Given the description of an element on the screen output the (x, y) to click on. 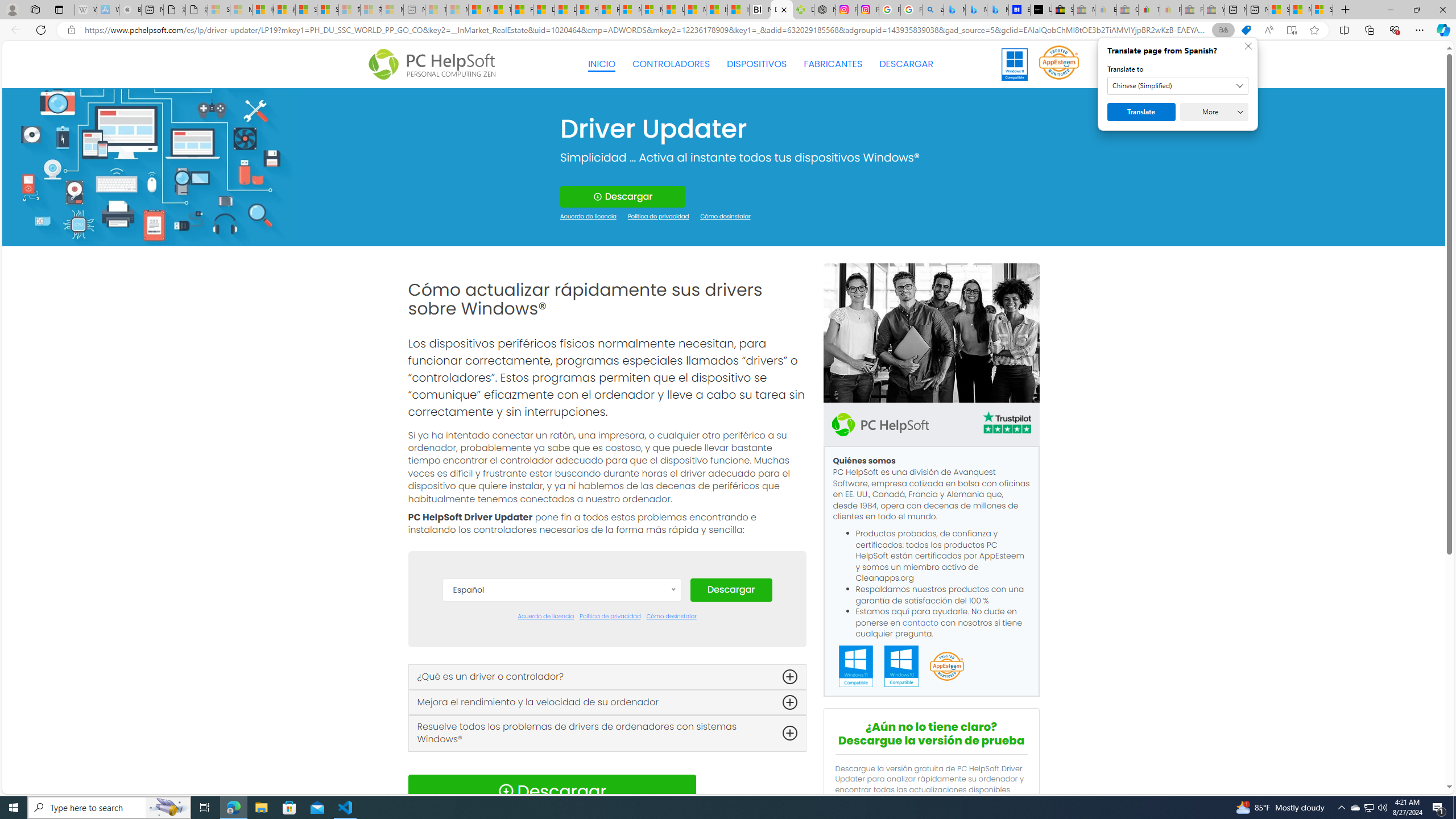
Microsoft account | Account Checkup - Sleeping (392, 9)
Sign in to your Microsoft account (1322, 9)
Windows 10 Compatible (900, 666)
Wikipedia - Sleeping (85, 9)
Yard, Garden & Outdoor Living - Sleeping (1214, 9)
Sign in to your Microsoft account - Sleeping (218, 9)
Show translate options (1222, 29)
Acuerdo de licencia (545, 615)
Enter Immersive Reader (F9) (1291, 29)
